Given the description of an element on the screen output the (x, y) to click on. 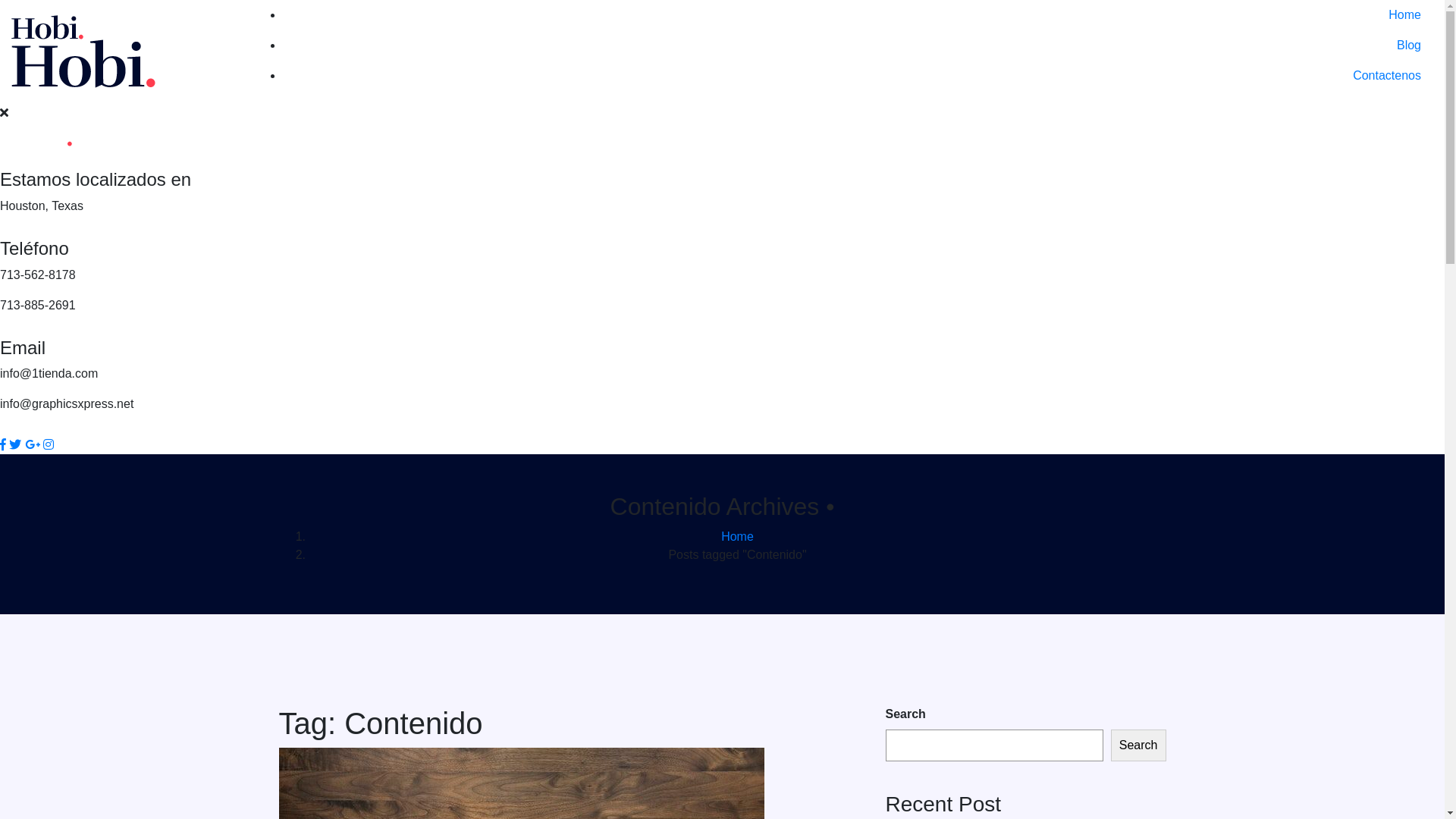
Blog Element type: text (857, 45)
Home Element type: text (857, 15)
Search Element type: text (1138, 745)
Home Element type: text (737, 536)
Contactenos Element type: text (857, 75)
